Given the description of an element on the screen output the (x, y) to click on. 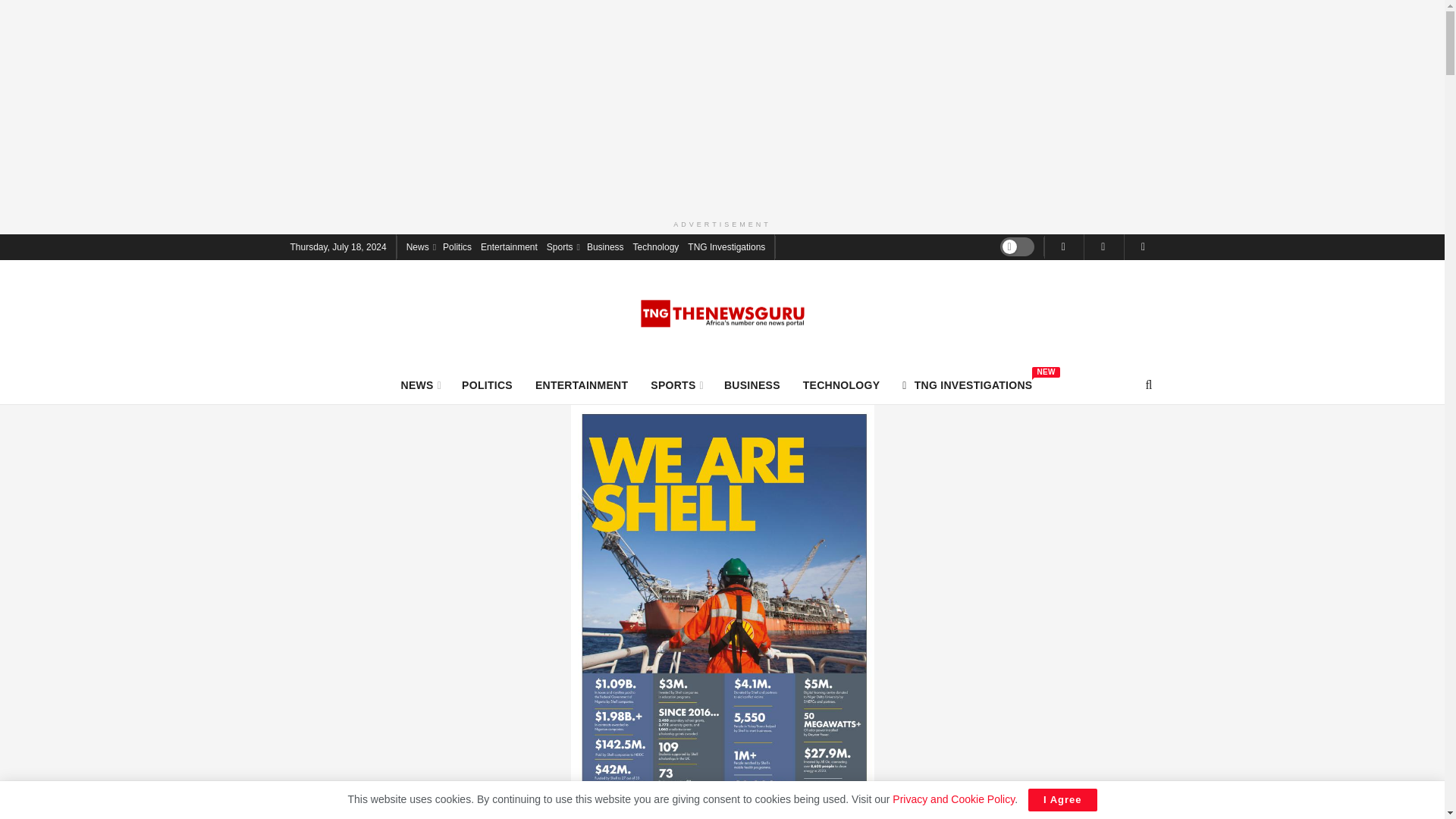
News (419, 246)
BUSINESS (751, 384)
TNG Investigations (726, 246)
ENTERTAINMENT (581, 384)
POLITICS (486, 384)
Business (605, 246)
Politics (456, 246)
TECHNOLOGY (841, 384)
SPORTS (675, 384)
Technology (656, 246)
NEWS (967, 384)
Entertainment (420, 384)
Advertisement (508, 246)
